Given the description of an element on the screen output the (x, y) to click on. 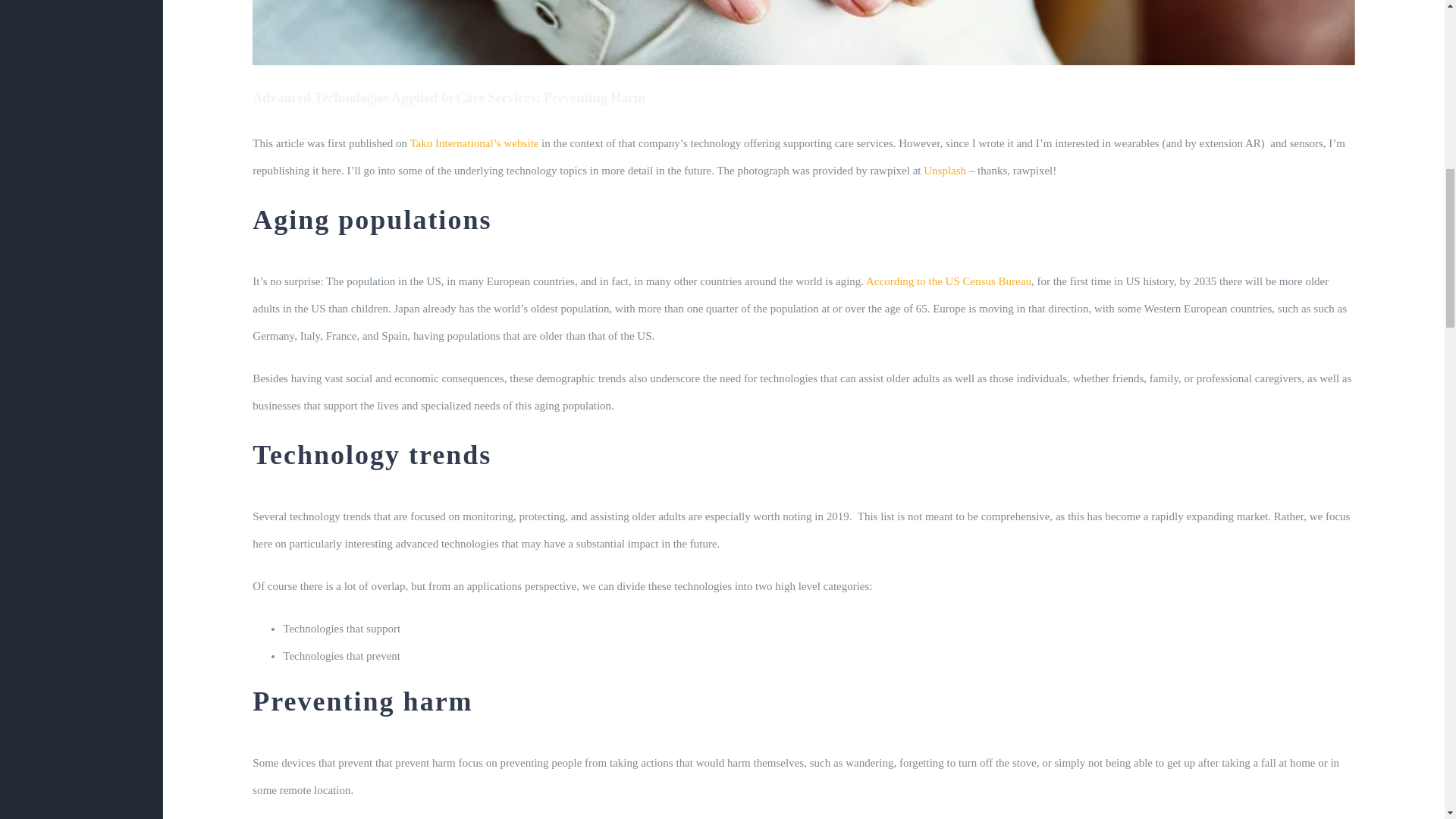
Unsplash (944, 170)
According to the US Census Bureau (948, 281)
